Given the description of an element on the screen output the (x, y) to click on. 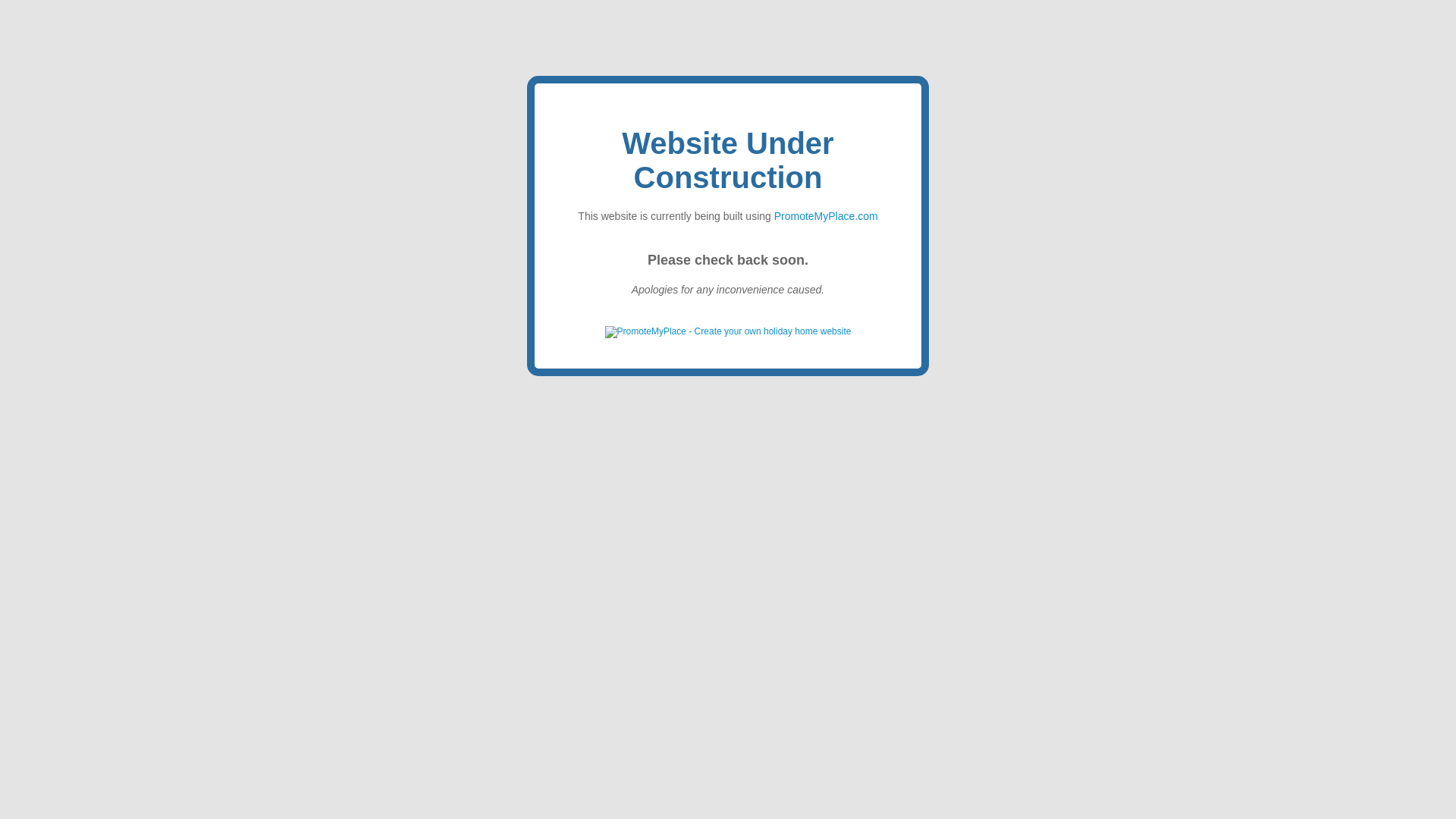
PromoteMyPlace.com (825, 215)
